Given the description of an element on the screen output the (x, y) to click on. 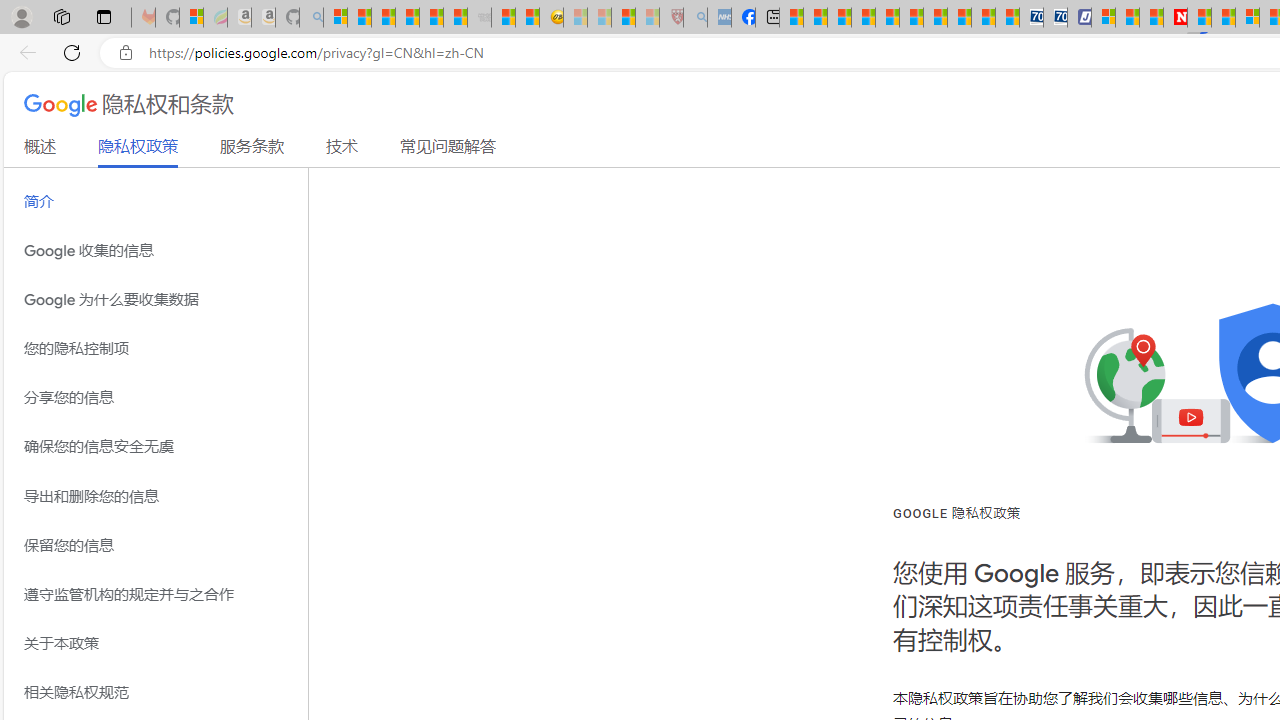
Climate Damage Becomes Too Severe To Reverse (863, 17)
